Given the description of an element on the screen output the (x, y) to click on. 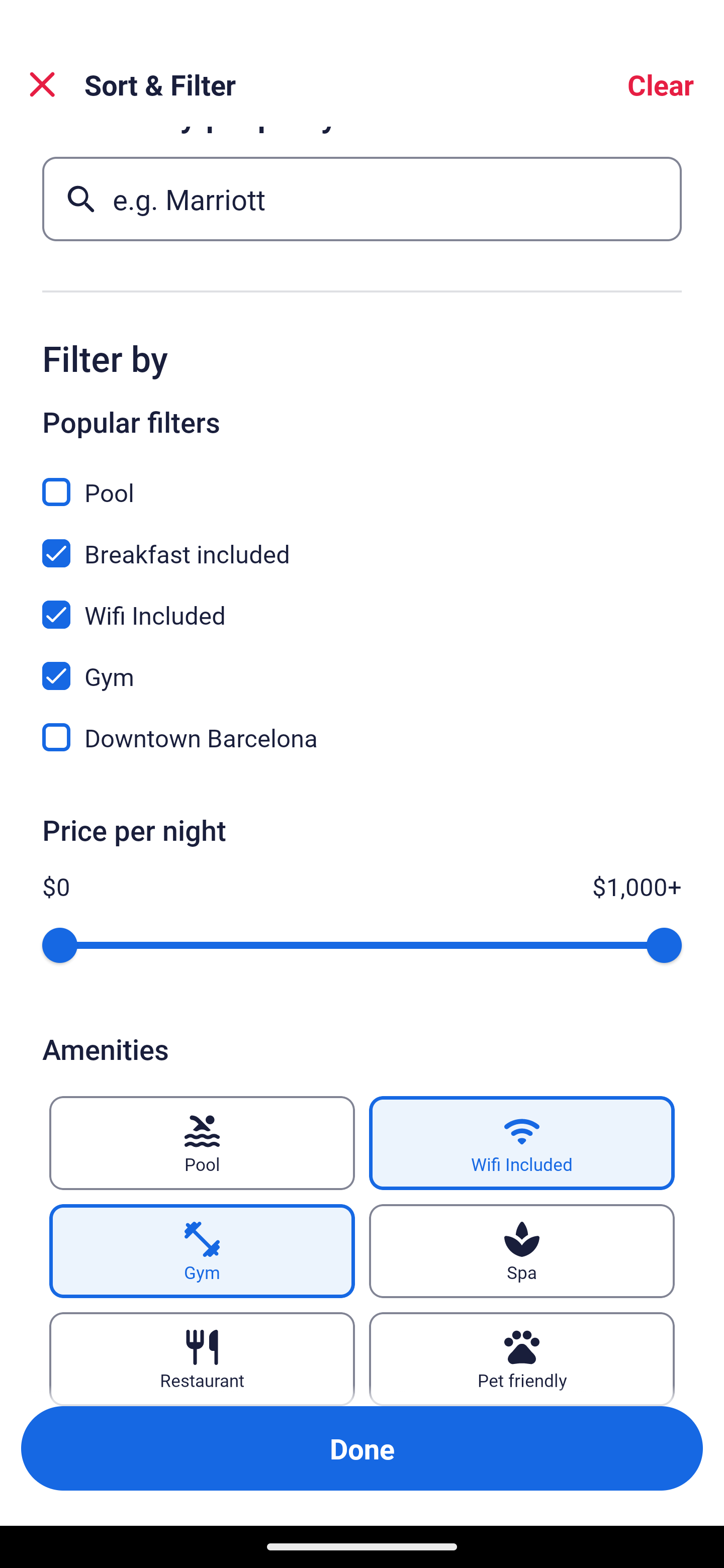
Close Sort and Filter (42, 84)
Clear (660, 84)
e.g. Marriott Button (361, 198)
Pool, Pool (361, 480)
Breakfast included, Breakfast included (361, 541)
Wifi Included, Wifi Included (361, 602)
Gym, Gym (361, 664)
Downtown Barcelona, Downtown Barcelona (361, 737)
Pool (201, 1143)
Wifi Included (521, 1143)
Gym (201, 1251)
Spa (521, 1251)
Restaurant (201, 1359)
Pet friendly (521, 1359)
Apply and close Sort and Filter Done (361, 1448)
